Given the description of an element on the screen output the (x, y) to click on. 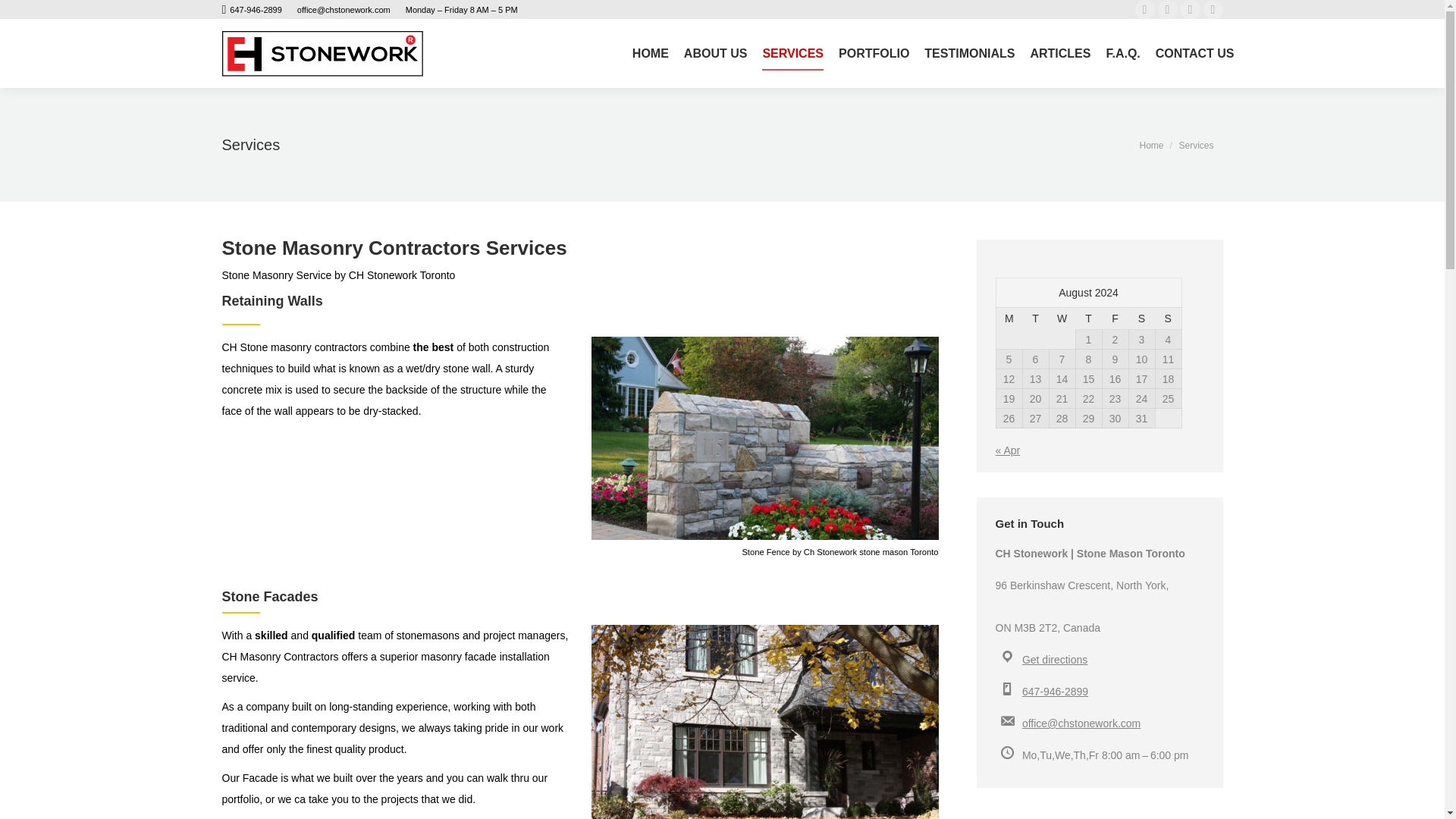
What we do (790, 55)
SERVICES (790, 55)
Home (1150, 144)
PORTFOLIO (871, 55)
Instagram page opens in new window (1213, 9)
Facebook page opens in new window (1144, 9)
Pinterest page opens in new window (1189, 9)
Our incredible work projects (871, 55)
Pinterest page opens in new window (1189, 9)
ARTICLES (1058, 55)
